Given the description of an element on the screen output the (x, y) to click on. 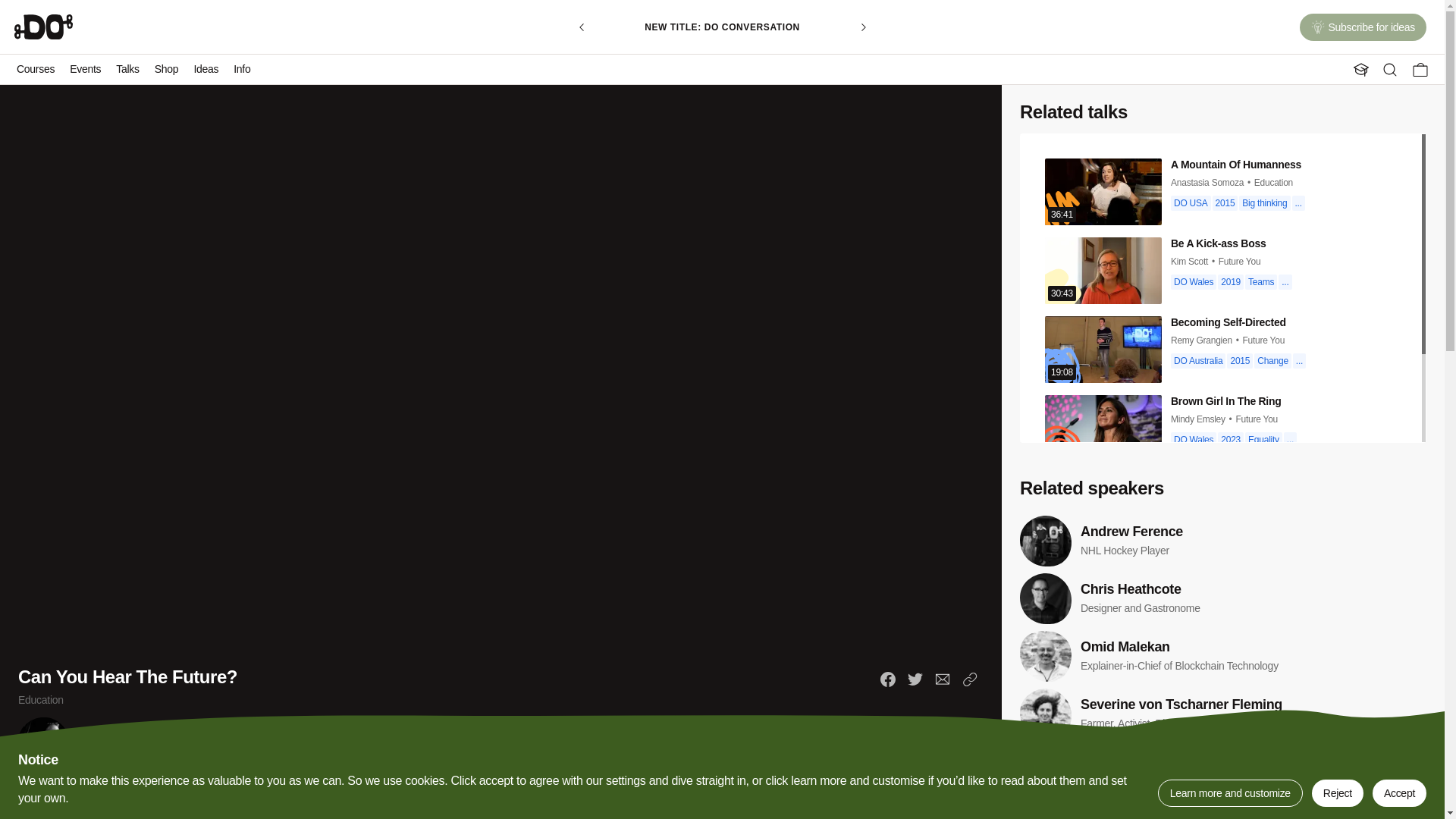
Info (241, 69)
NEW TITLE: DO CONVERSATION (722, 26)
Goals (285, 791)
2009 (79, 791)
Courses (35, 69)
Confidence (208, 791)
Events (84, 69)
Subscribe for ideas (1363, 29)
DO Wales (41, 791)
Big thinking (118, 791)
Energy (252, 791)
Subscribe for ideas (1363, 26)
Purpose (367, 791)
Shop (166, 69)
36:41 (1103, 191)
